Given the description of an element on the screen output the (x, y) to click on. 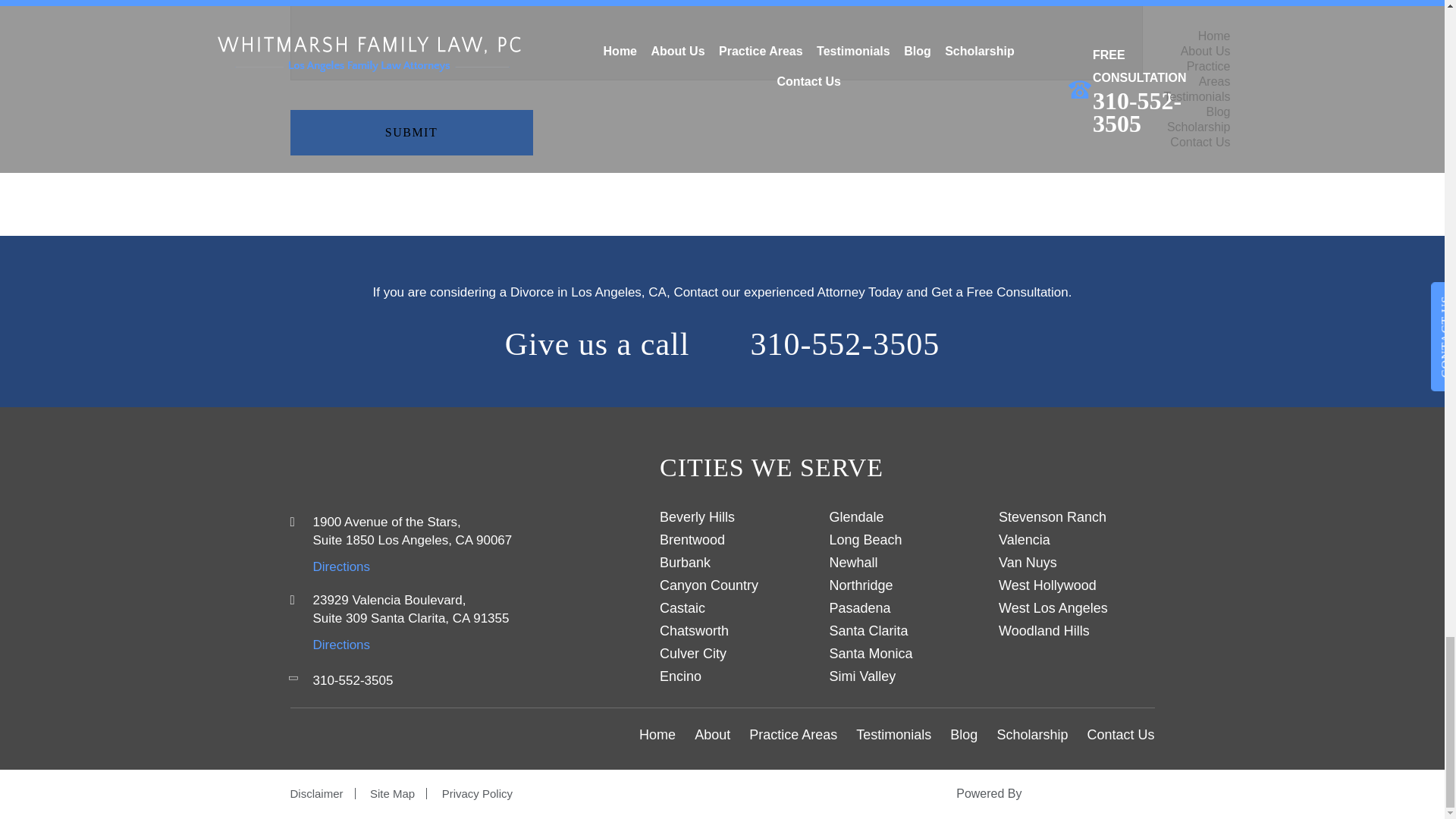
Submit (410, 132)
